Given the description of an element on the screen output the (x, y) to click on. 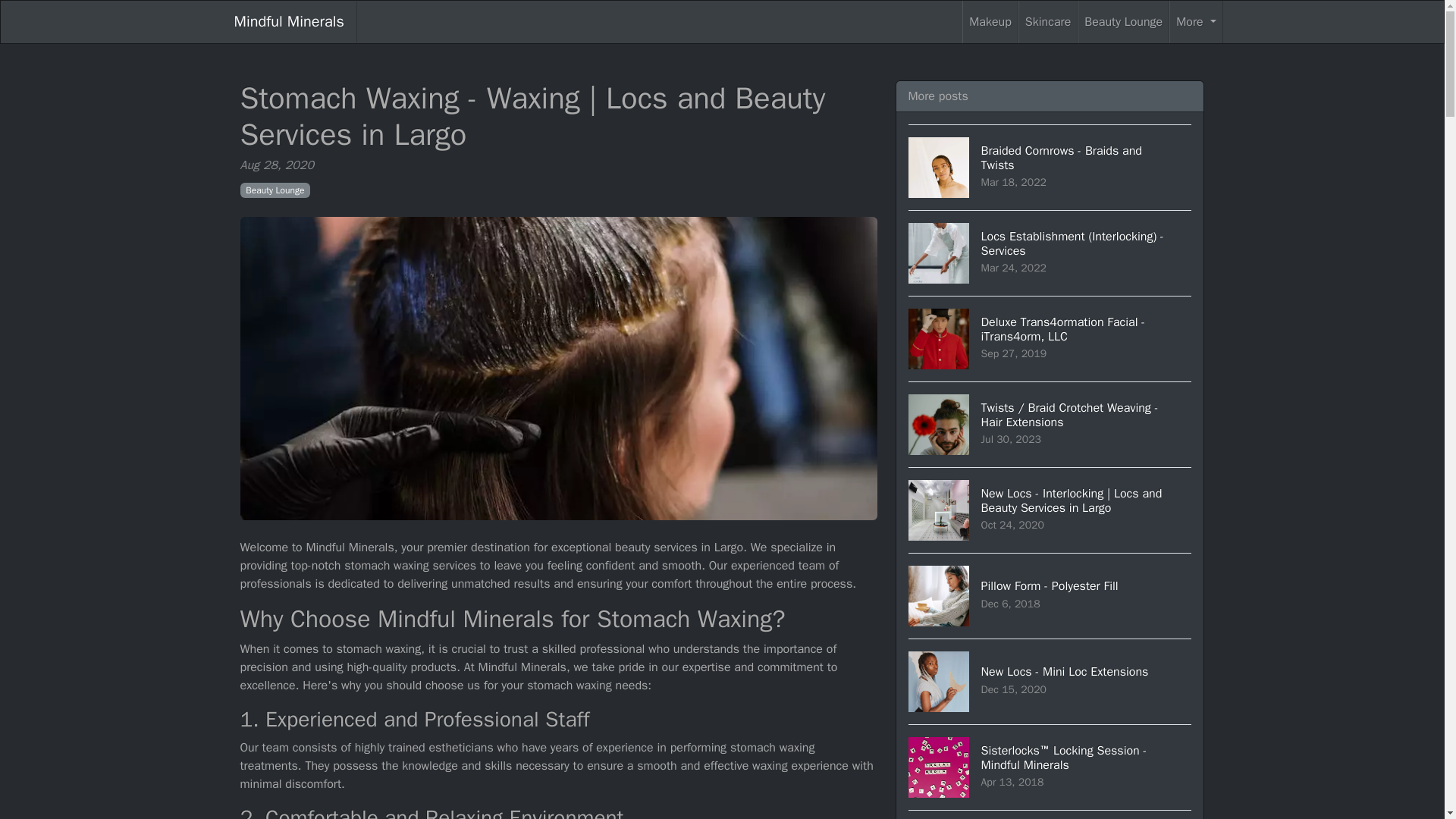
Mindful Minerals (288, 21)
Beauty Lounge (1050, 814)
More (1123, 21)
Skincare (1196, 21)
Beauty Lounge (1050, 595)
Makeup (1047, 21)
